Given the description of an element on the screen output the (x, y) to click on. 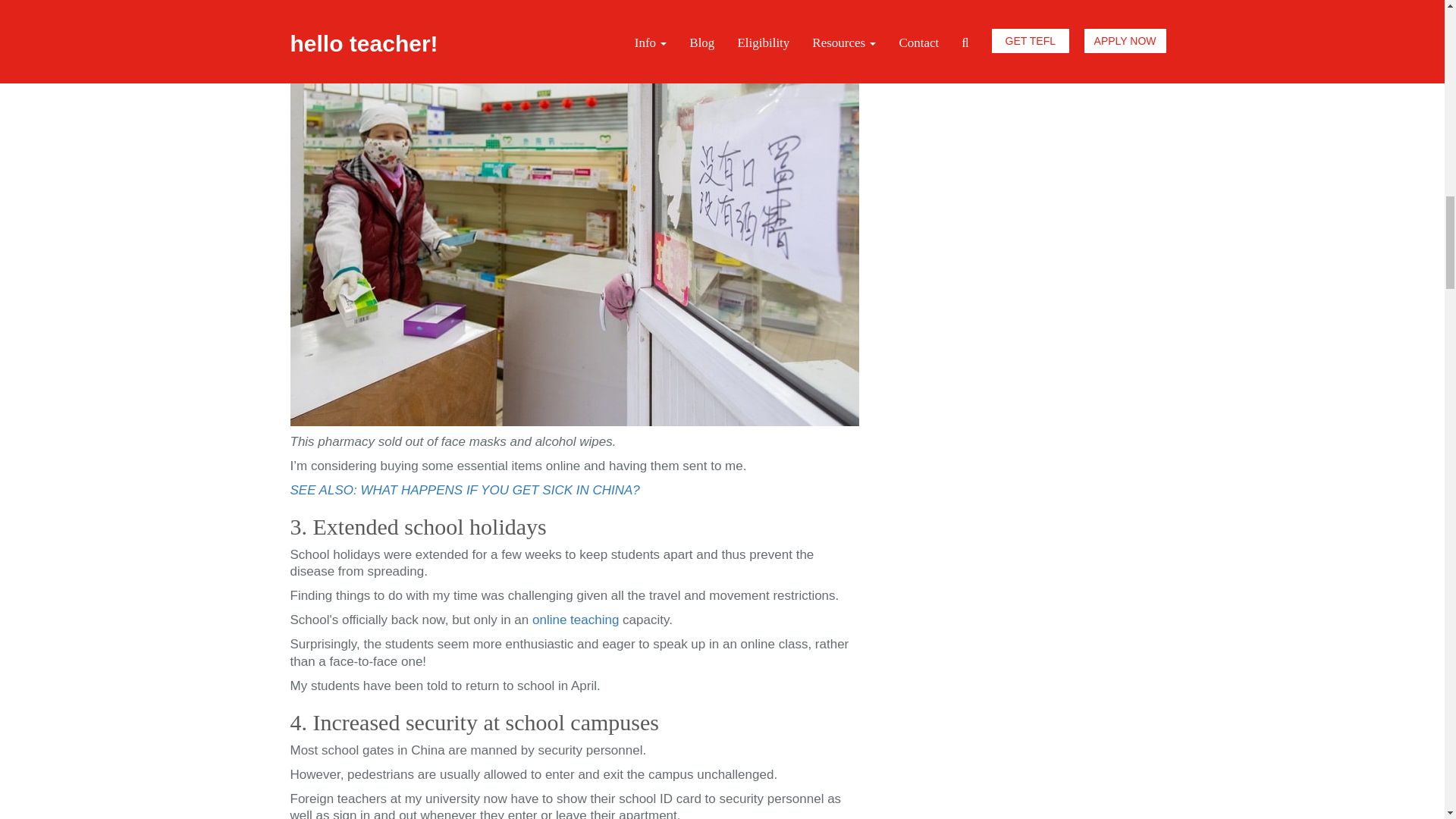
SEE ALSO: WHAT HAPPENS IF YOU GET SICK IN CHINA? (464, 490)
online teaching (575, 619)
